Given the description of an element on the screen output the (x, y) to click on. 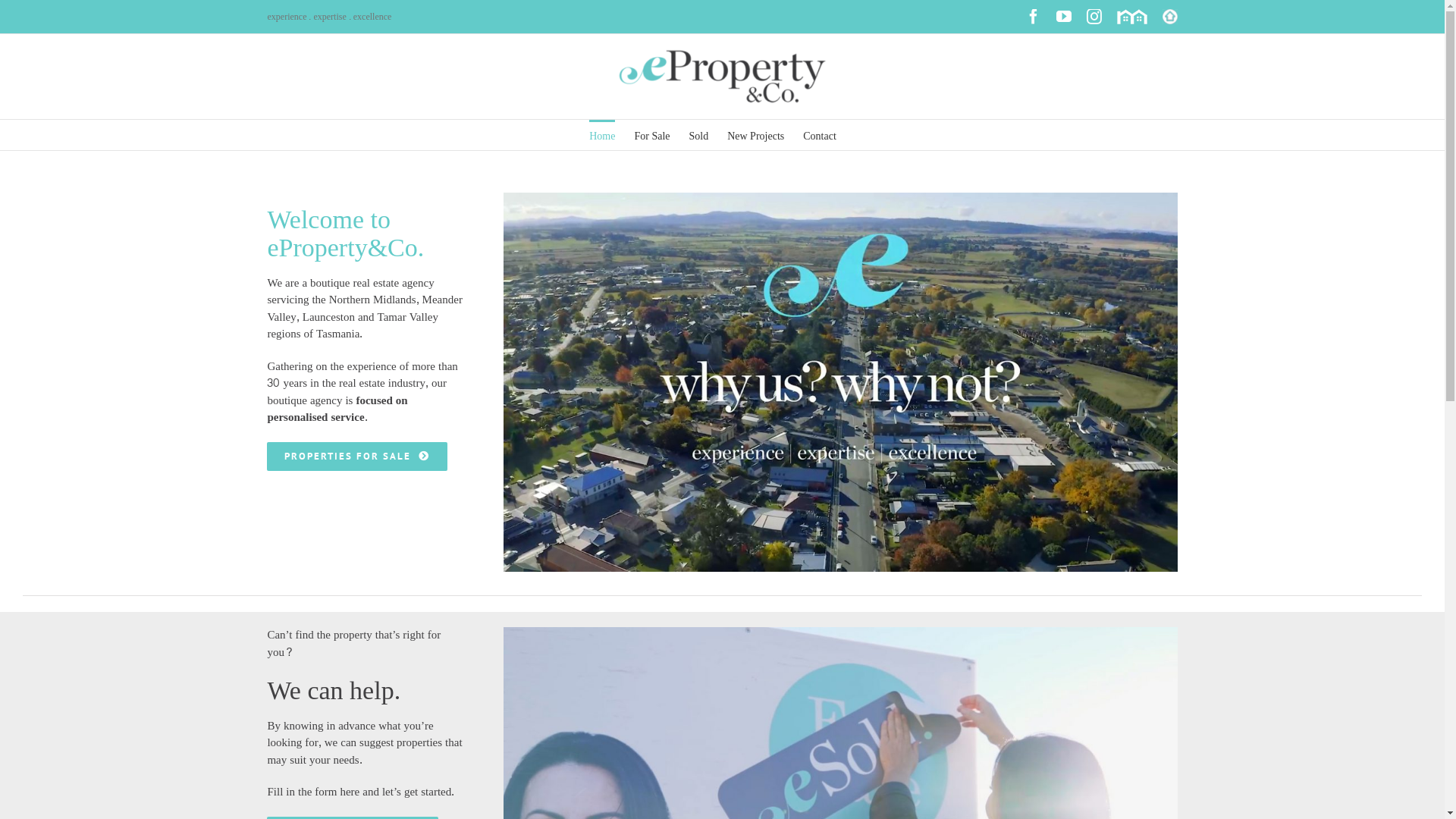
Home Element type: text (602, 134)
Realestate.com.au Element type: text (1168, 16)
YouTube Element type: text (1062, 16)
New Projects Element type: text (755, 134)
Sold Element type: text (698, 134)
eP&Co-Home Page Element type: hover (839, 381)
Instagram Element type: text (1093, 16)
PROPERTIES FOR SALE Element type: text (356, 456)
Contact Element type: text (819, 134)
For Sale Element type: text (651, 134)
Domain Element type: text (1131, 16)
Facebook Element type: text (1032, 16)
